Given the description of an element on the screen output the (x, y) to click on. 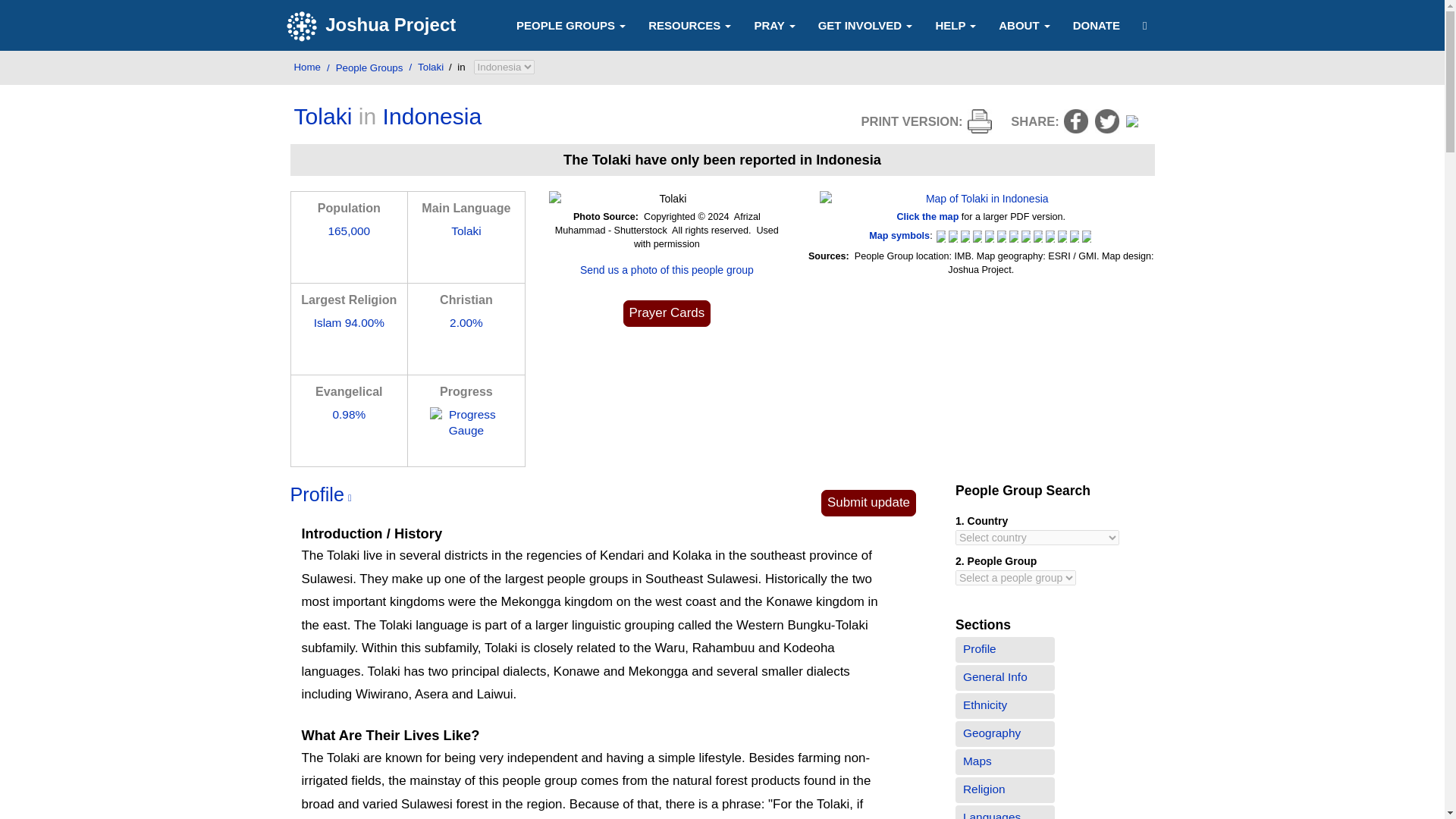
PEOPLE GROUPS (571, 24)
Joshua Project (373, 25)
RESOURCES (689, 24)
